Given the description of an element on the screen output the (x, y) to click on. 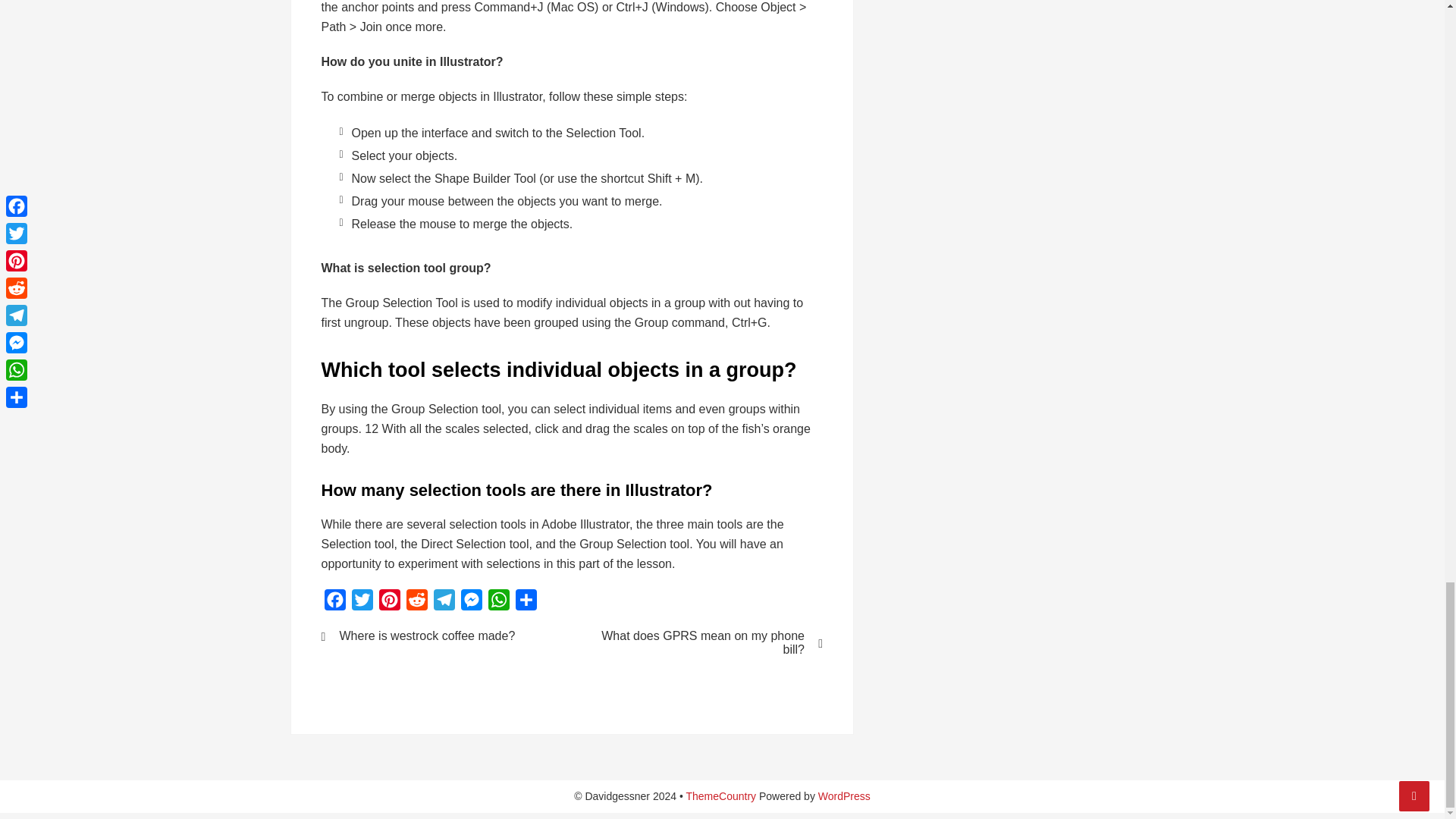
Twitter (362, 602)
Messenger (471, 602)
Telegram (444, 602)
What does GPRS mean on my phone bill? (707, 642)
WhatsApp (498, 602)
Reddit (416, 602)
Facebook (335, 602)
Facebook (335, 602)
WhatsApp (498, 602)
Where is westrock coffee made? (436, 635)
